Given the description of an element on the screen output the (x, y) to click on. 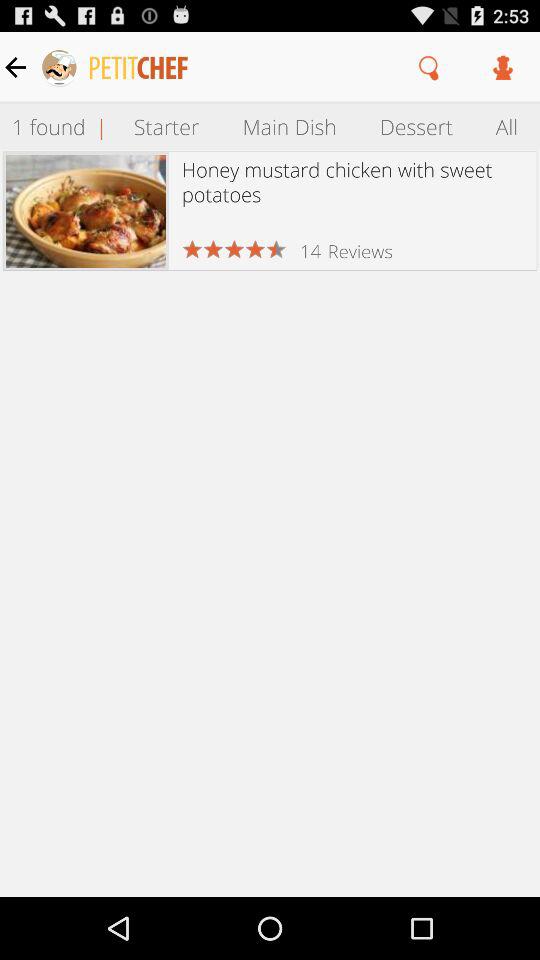
launch item to the left of dessert icon (289, 126)
